Given the description of an element on the screen output the (x, y) to click on. 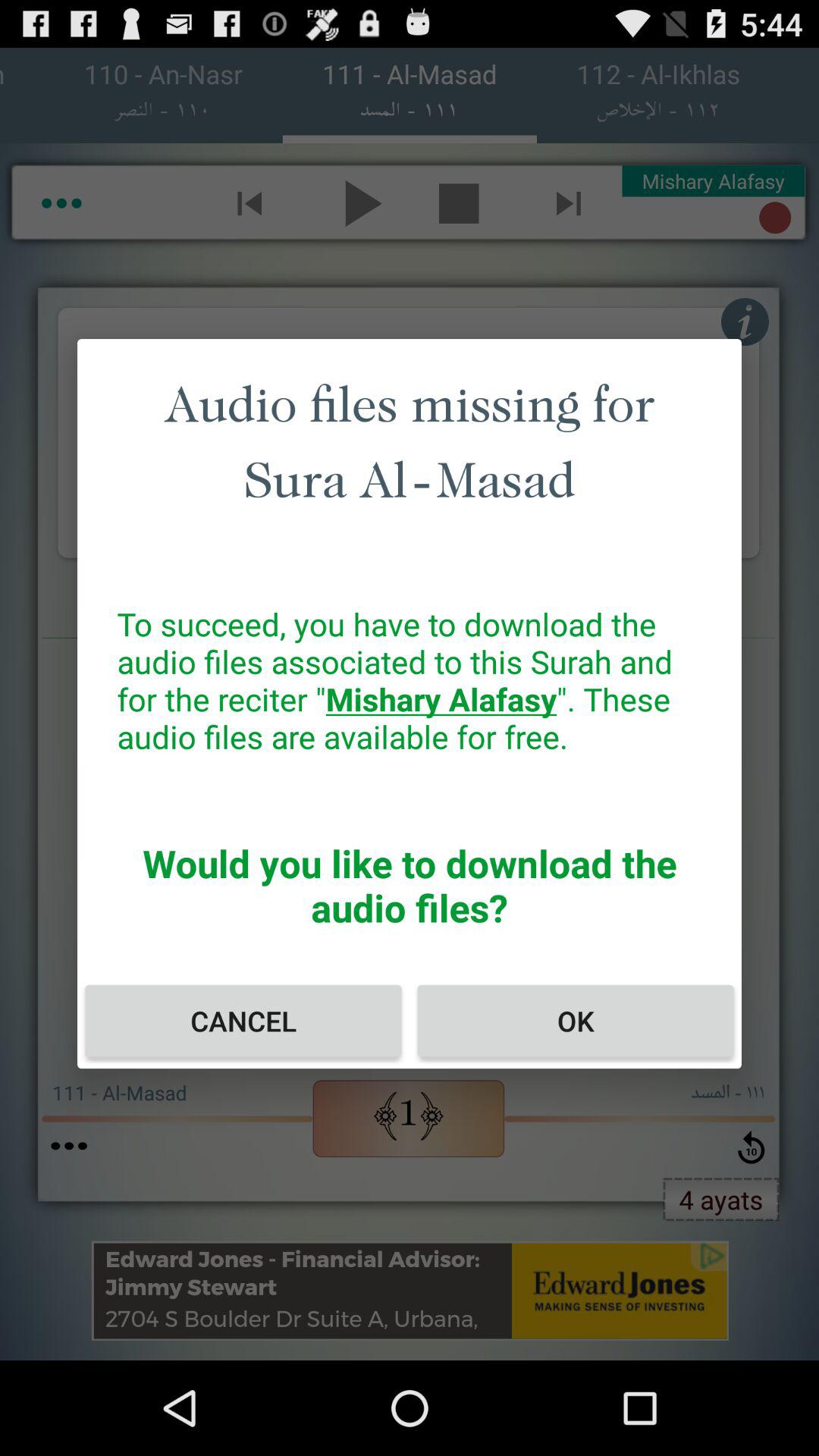
tap the item below the would you like item (243, 1020)
